Given the description of an element on the screen output the (x, y) to click on. 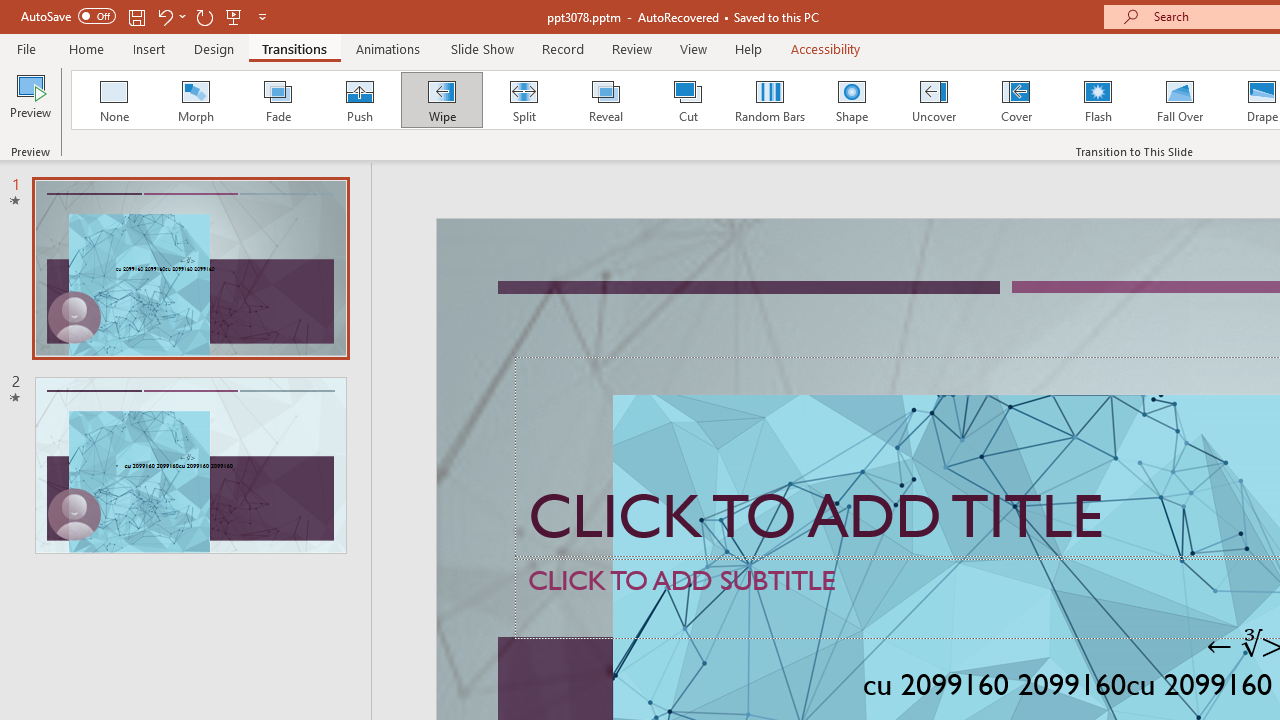
Random Bars (770, 100)
Push (359, 100)
Morph (195, 100)
Split (523, 100)
